Given the description of an element on the screen output the (x, y) to click on. 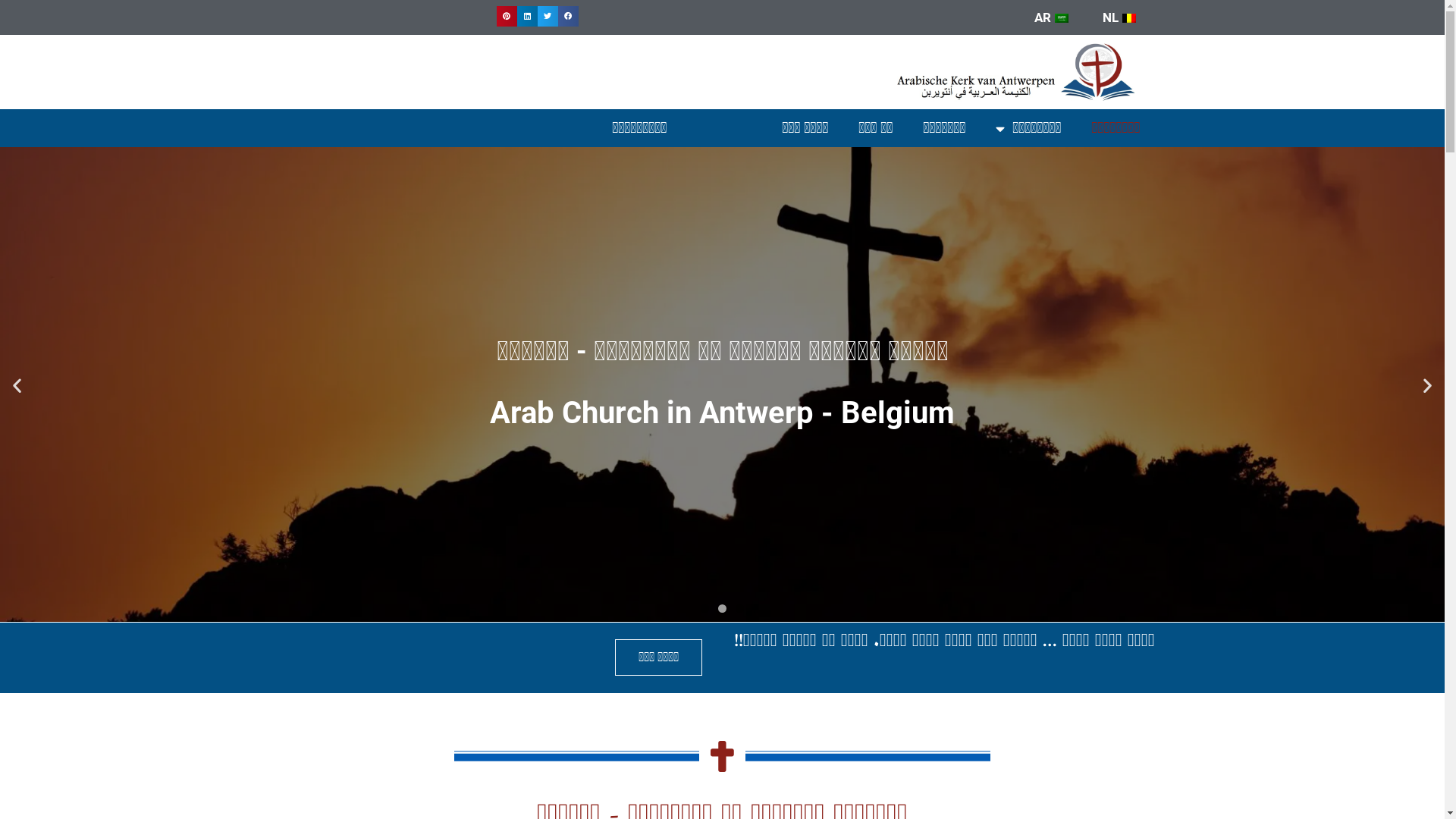
NL Element type: text (1120, 17)
Arabic Element type: hover (1060, 17)
Dutch Element type: hover (1128, 17)
AR Element type: text (1053, 17)
